Given the description of an element on the screen output the (x, y) to click on. 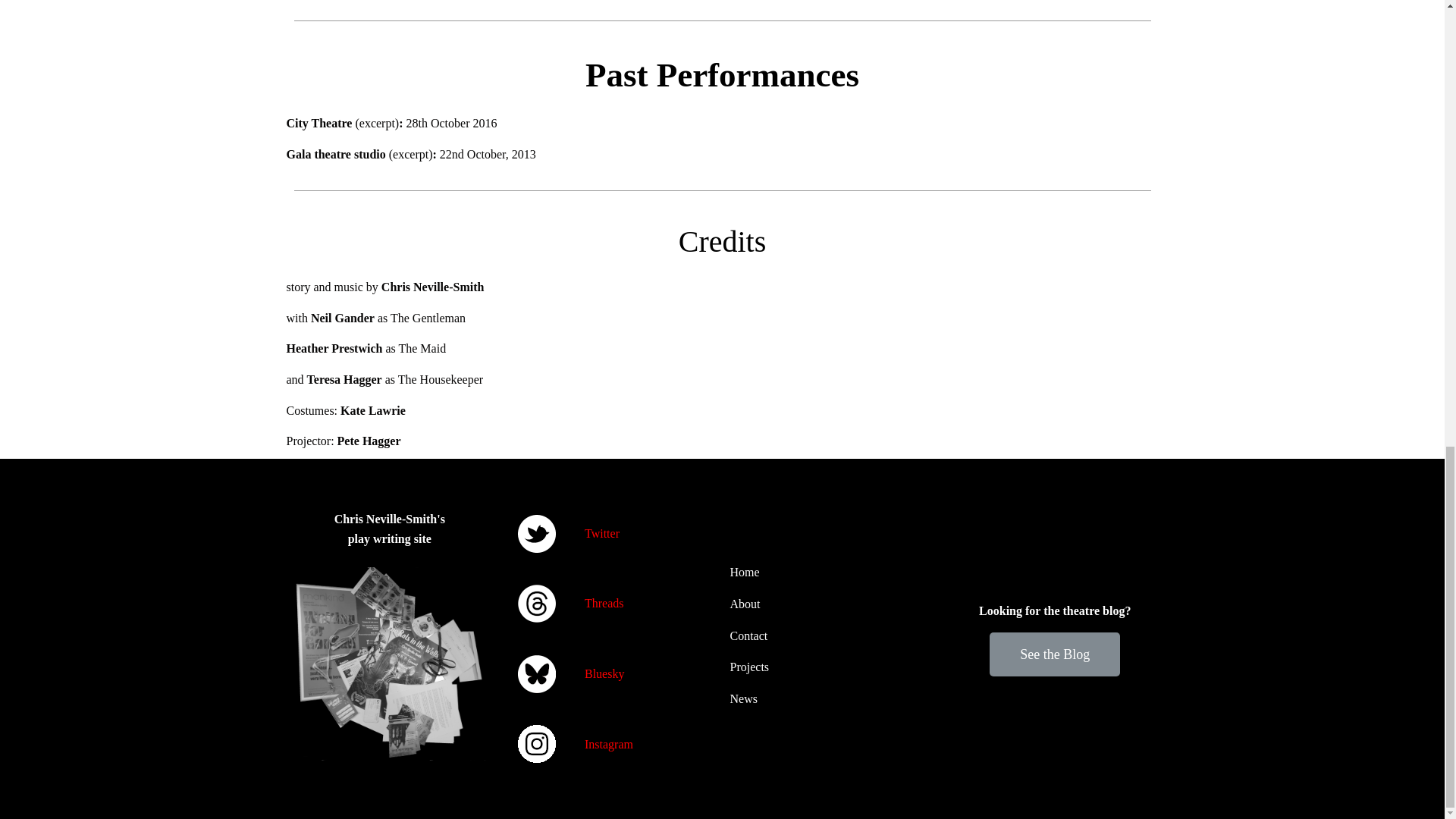
twitter icon (535, 533)
Bluesky icon (535, 673)
instragram icon (535, 743)
threads icon (535, 603)
Montage small bw (390, 663)
